Given the description of an element on the screen output the (x, y) to click on. 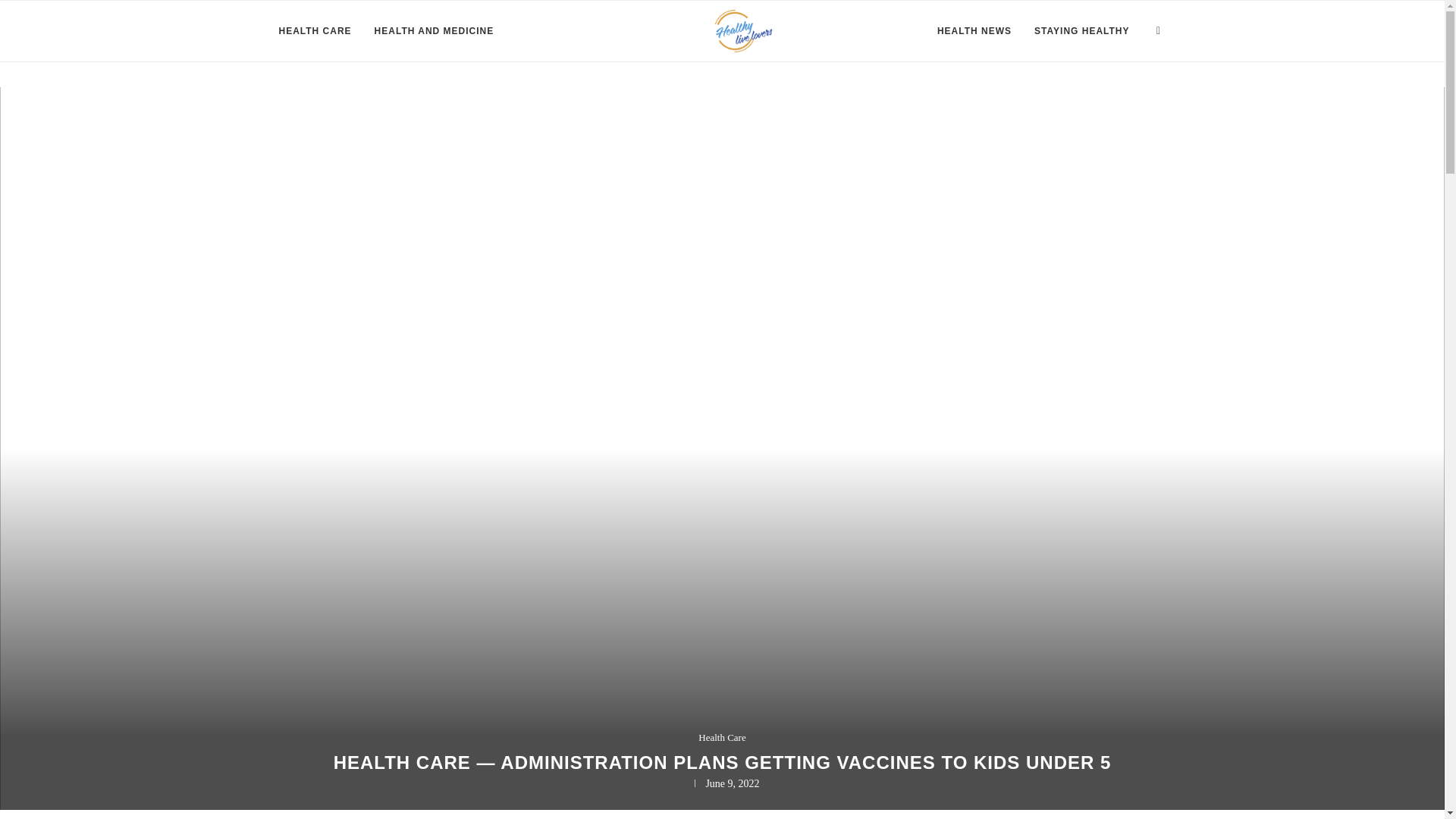
HEALTH AND MEDICINE (434, 30)
Health Care (721, 737)
STAYING HEALTHY (1081, 30)
HEALTH NEWS (974, 30)
HEALTH CARE (315, 30)
